Given the description of an element on the screen output the (x, y) to click on. 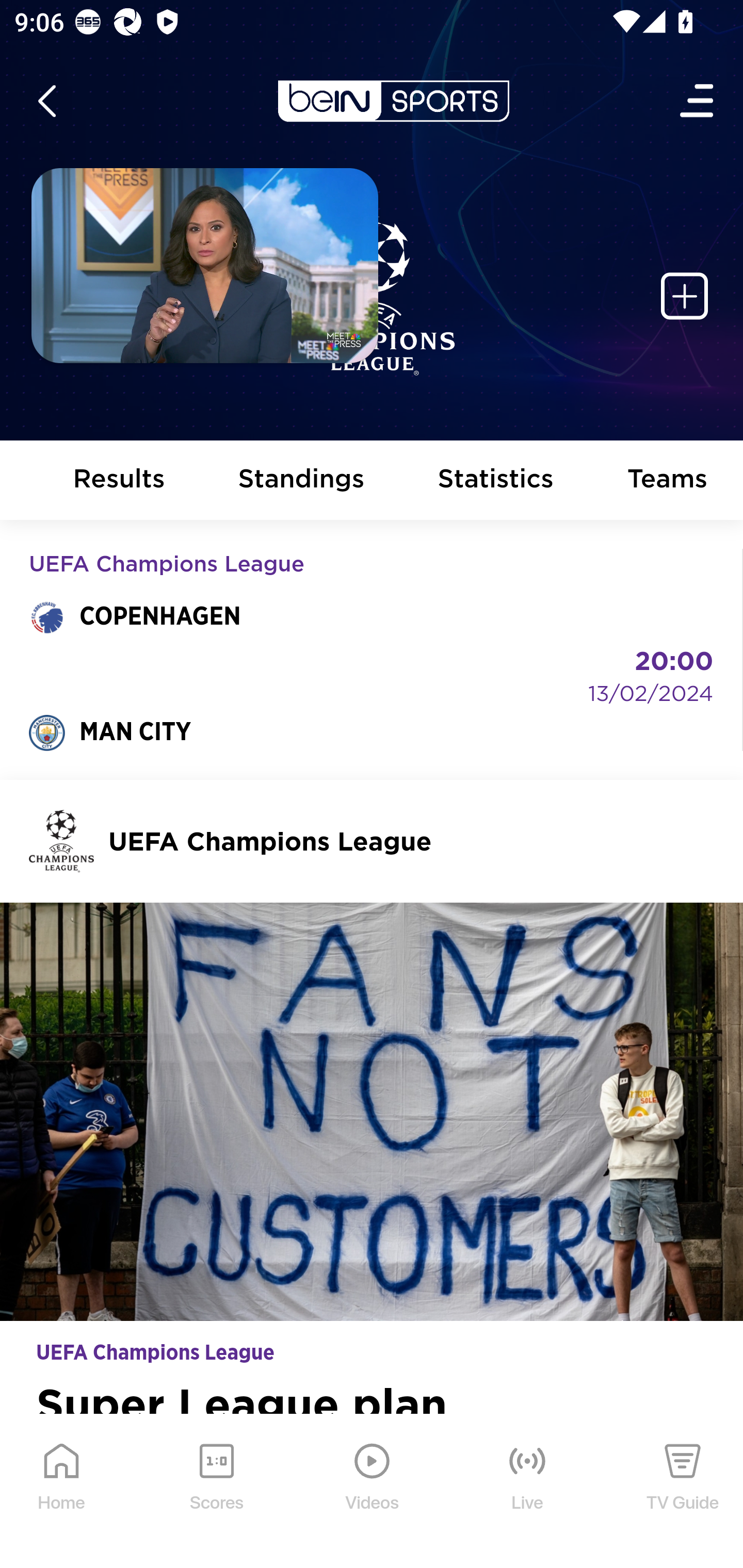
en-my?platform=mobile_android bein logo white (392, 101)
icon back (46, 101)
Open Menu Icon (697, 101)
Results (119, 480)
Standings (301, 480)
Statistics (496, 480)
Teams (667, 480)
Home Home Icon Home (61, 1491)
Scores Scores Icon Scores (216, 1491)
Videos Videos Icon Videos (372, 1491)
TV Guide TV Guide Icon TV Guide (682, 1491)
